Given the description of an element on the screen output the (x, y) to click on. 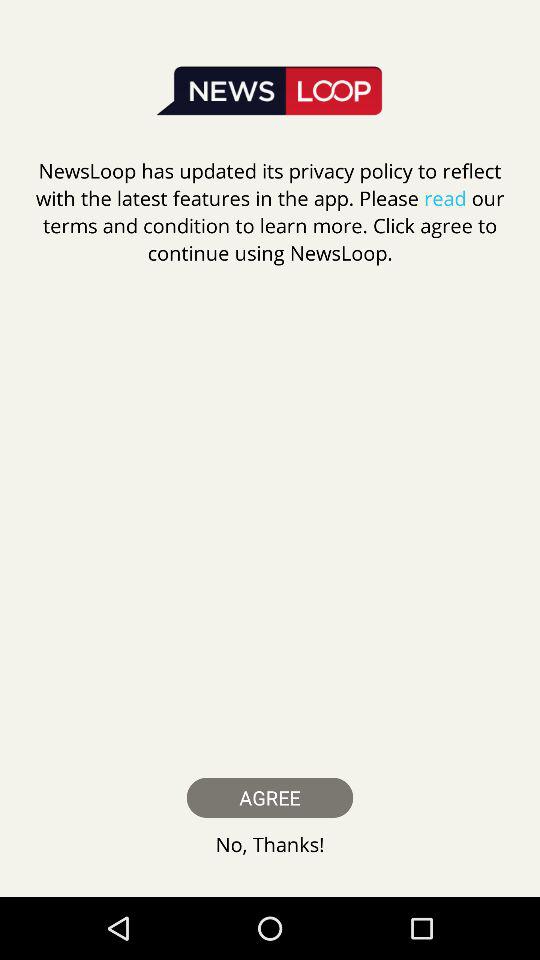
launch the item above the agree item (269, 211)
